Given the description of an element on the screen output the (x, y) to click on. 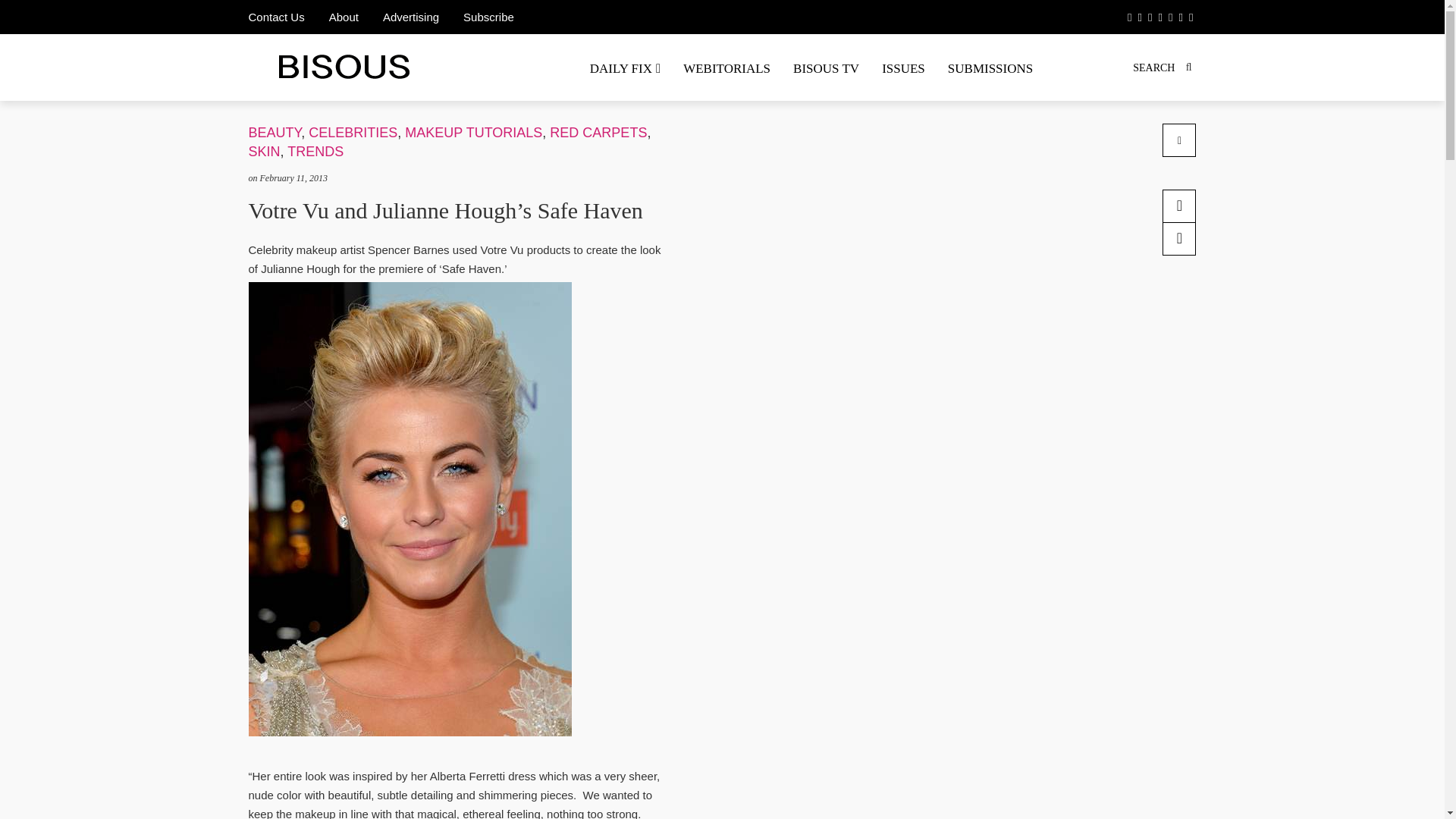
WEBITORIALS (726, 68)
RED CARPETS (598, 132)
Advertising (410, 17)
CELEBRITIES (352, 132)
ISSUES (903, 68)
MAKEUP TUTORIALS (472, 132)
BEAUTY (274, 132)
About (343, 17)
BISOUS TV (825, 68)
SKIN (264, 151)
